Given the description of an element on the screen output the (x, y) to click on. 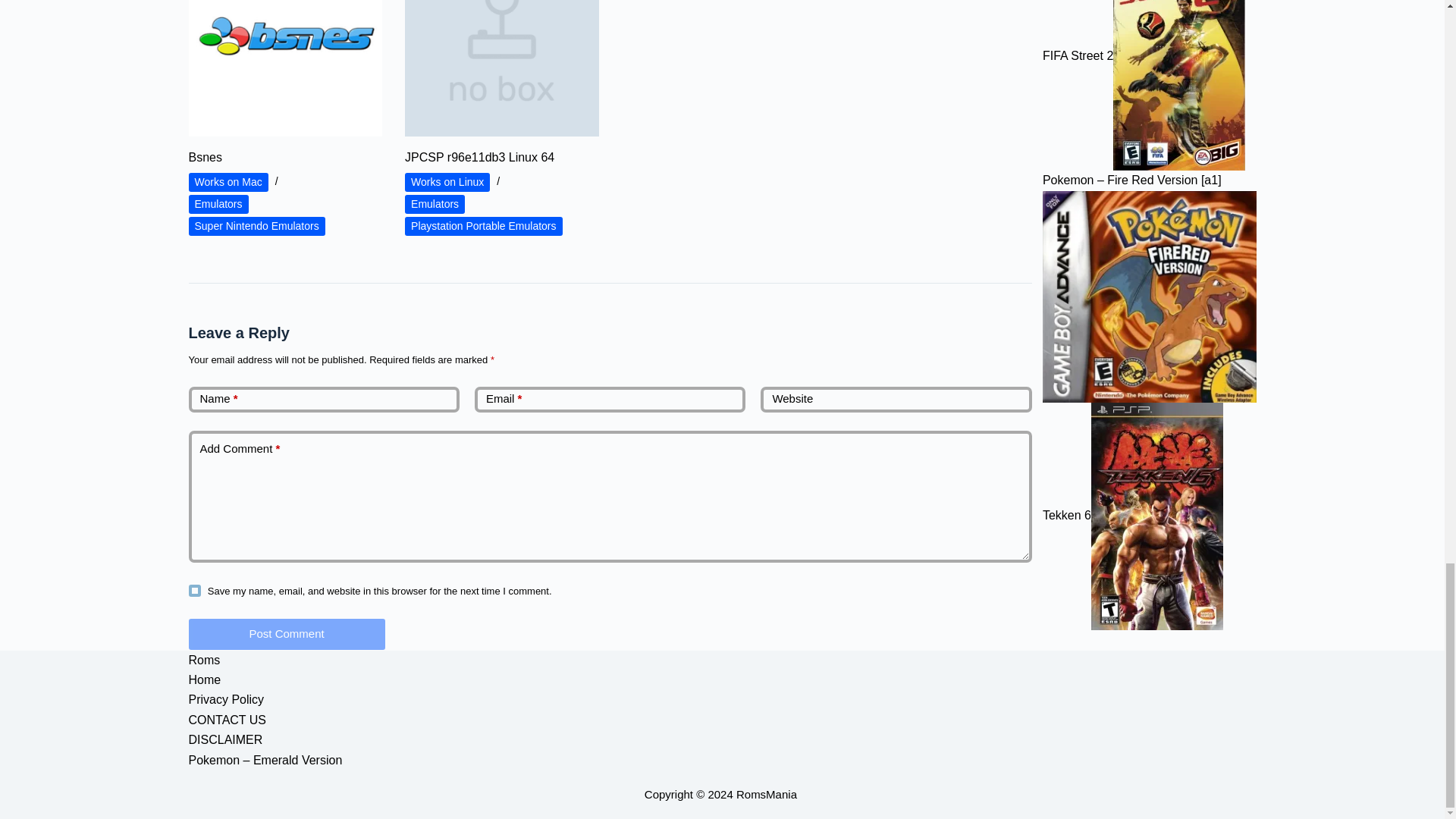
yes (193, 590)
Tekken 6 (1156, 515)
FIFA Street 2 (1178, 85)
